Given the description of an element on the screen output the (x, y) to click on. 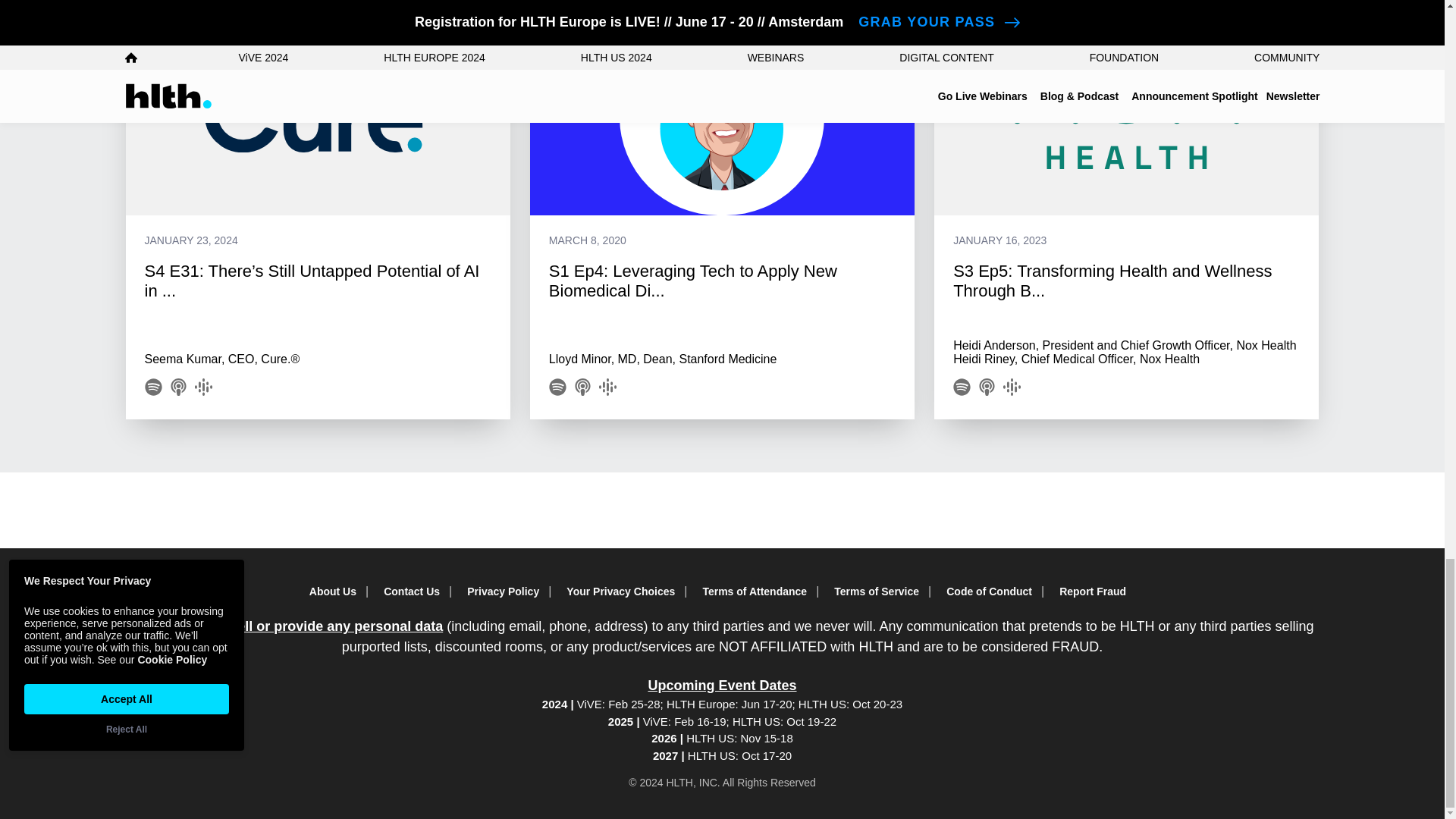
Privacy Policy (507, 591)
Contact Us (416, 591)
Your Privacy Choices (625, 591)
About Us (336, 591)
Code of Conduct (993, 591)
Terms of Attendance (759, 591)
Terms of Service (881, 591)
